Given the description of an element on the screen output the (x, y) to click on. 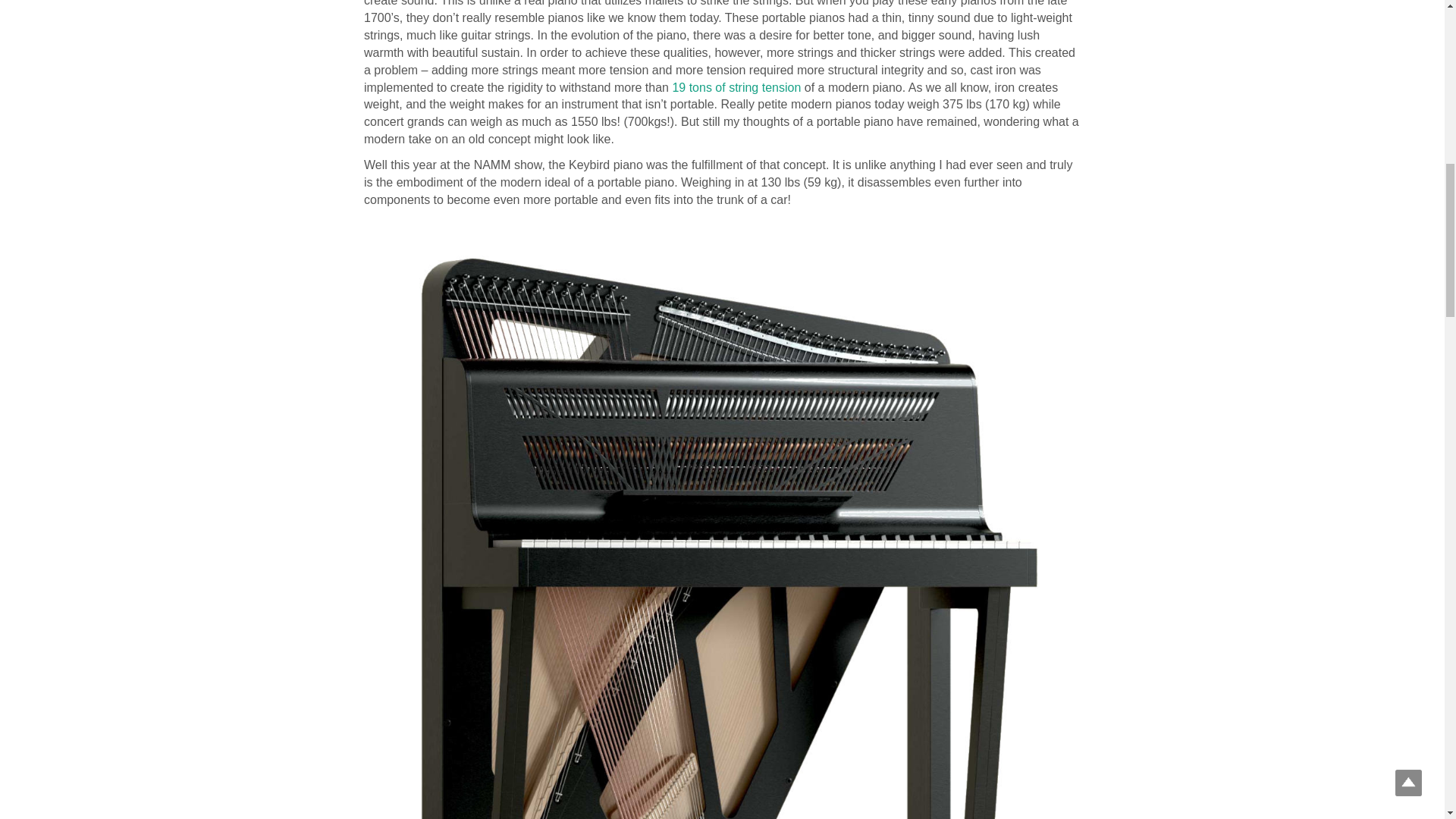
19 tons of string tension (735, 87)
